Given the description of an element on the screen output the (x, y) to click on. 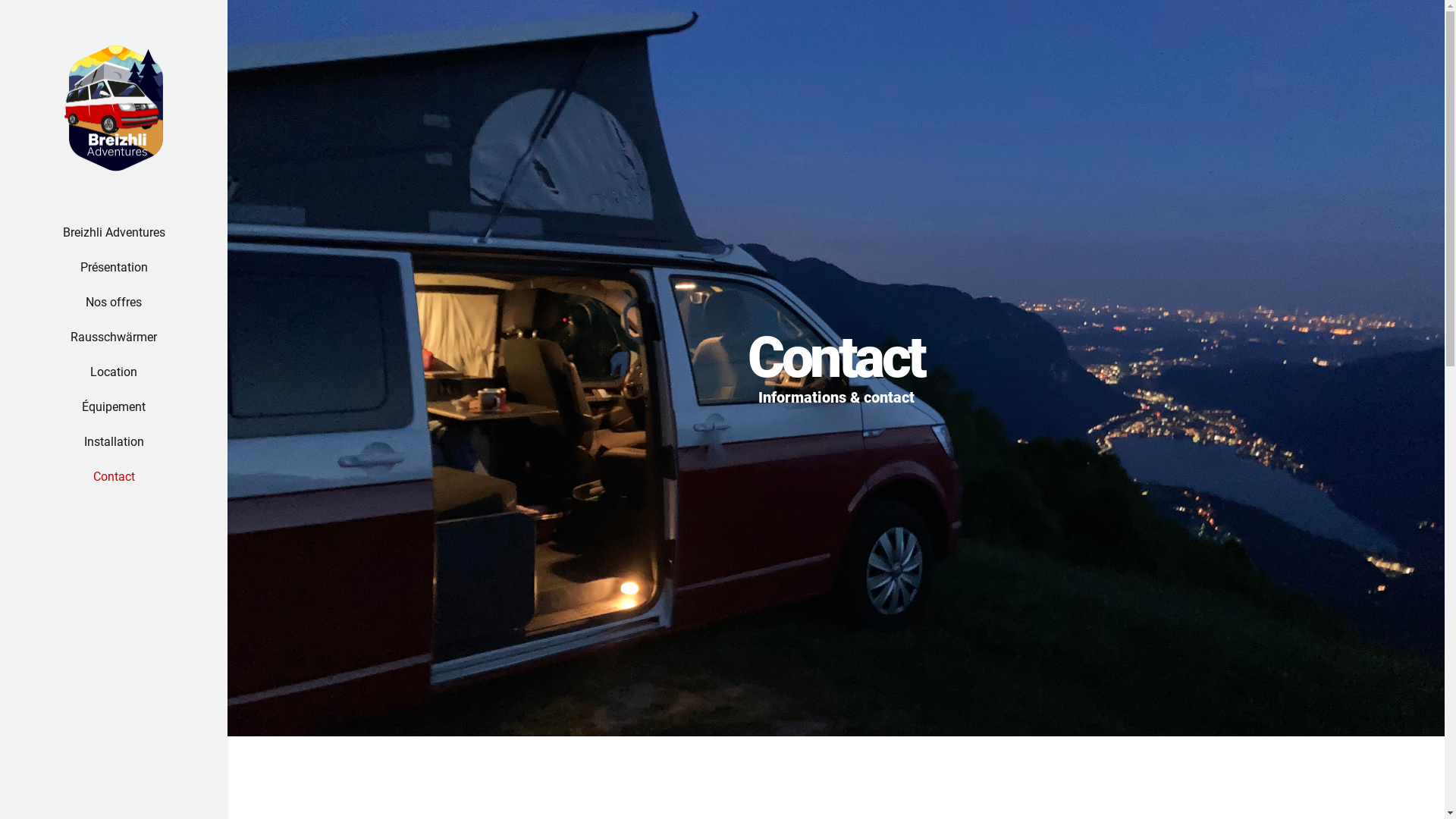
Installation Element type: text (113, 441)
Nos offres Element type: text (113, 302)
Contact Element type: text (113, 476)
Breizhli Adventures Element type: text (113, 232)
Location Element type: text (113, 371)
